Given the description of an element on the screen output the (x, y) to click on. 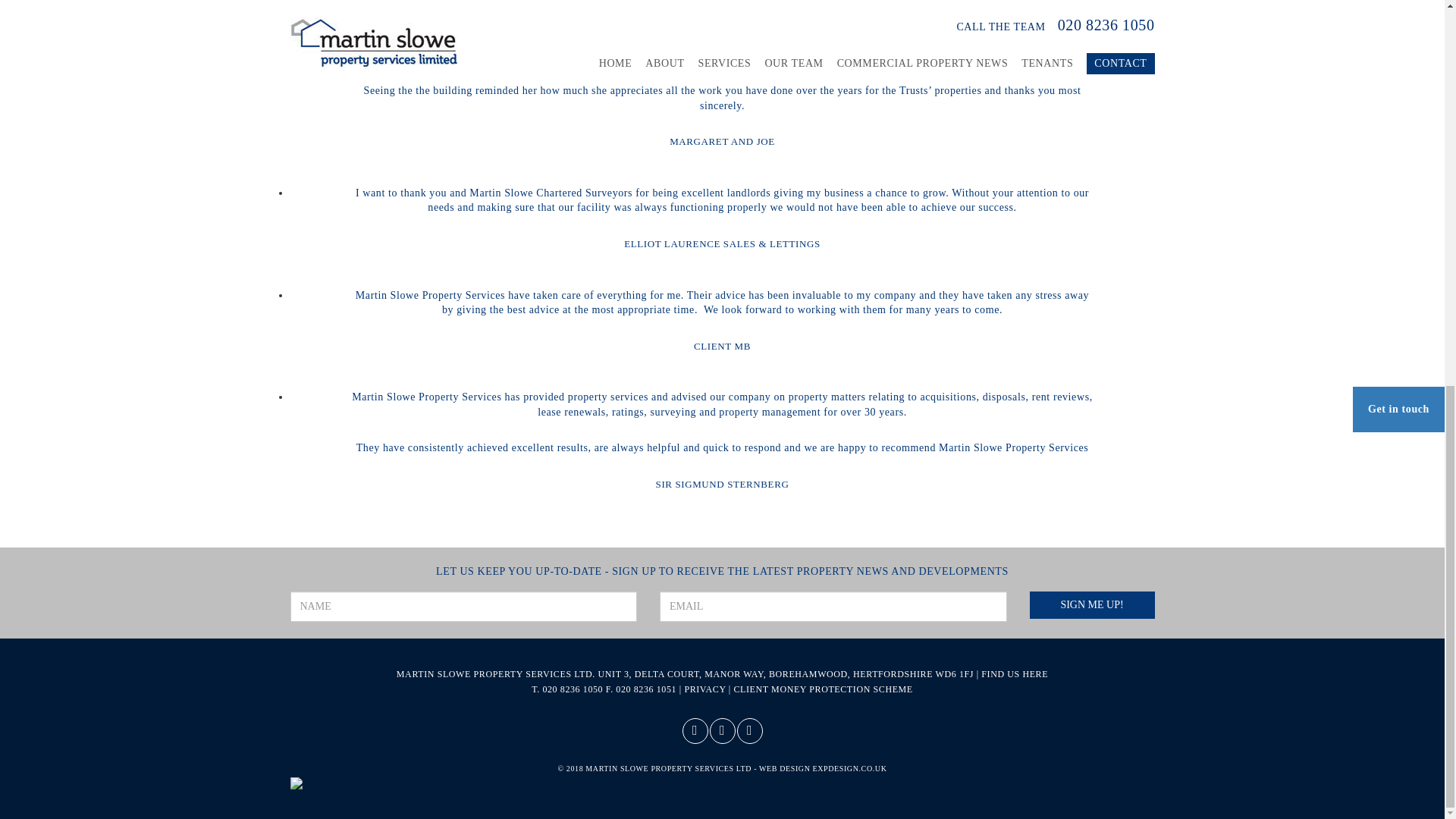
PRIVACY (704, 688)
FIND US HERE (1014, 674)
020 8236 1051 (646, 688)
020 8236 1050 (571, 688)
SIGN ME UP! (1091, 605)
CLIENT MONEY PROTECTION SCHEME (822, 688)
